Given the description of an element on the screen output the (x, y) to click on. 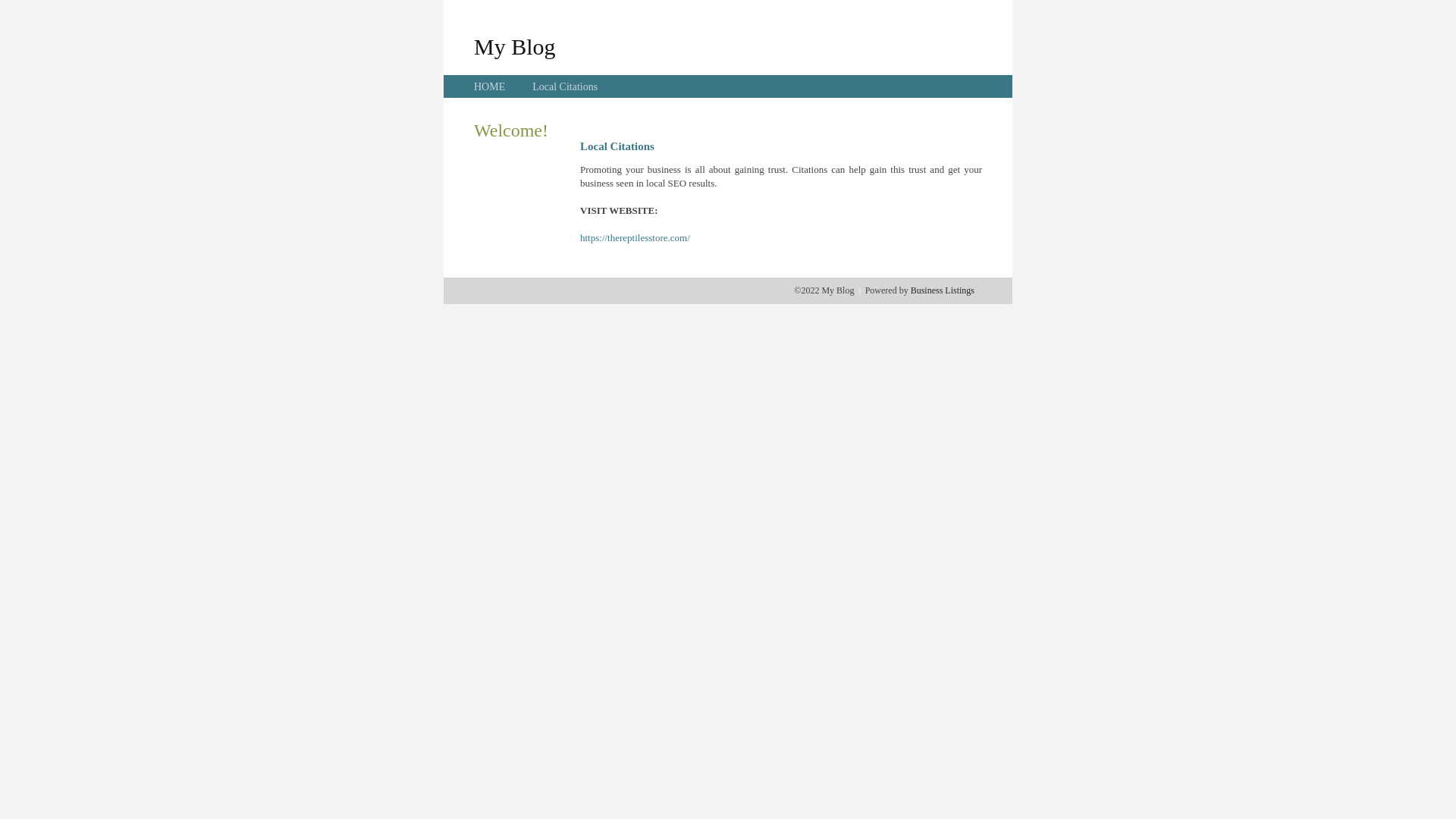
Local Citations Element type: text (564, 86)
Business Listings Element type: text (942, 290)
https://thereptilesstore.com/ Element type: text (635, 237)
HOME Element type: text (489, 86)
My Blog Element type: text (514, 46)
